Given the description of an element on the screen output the (x, y) to click on. 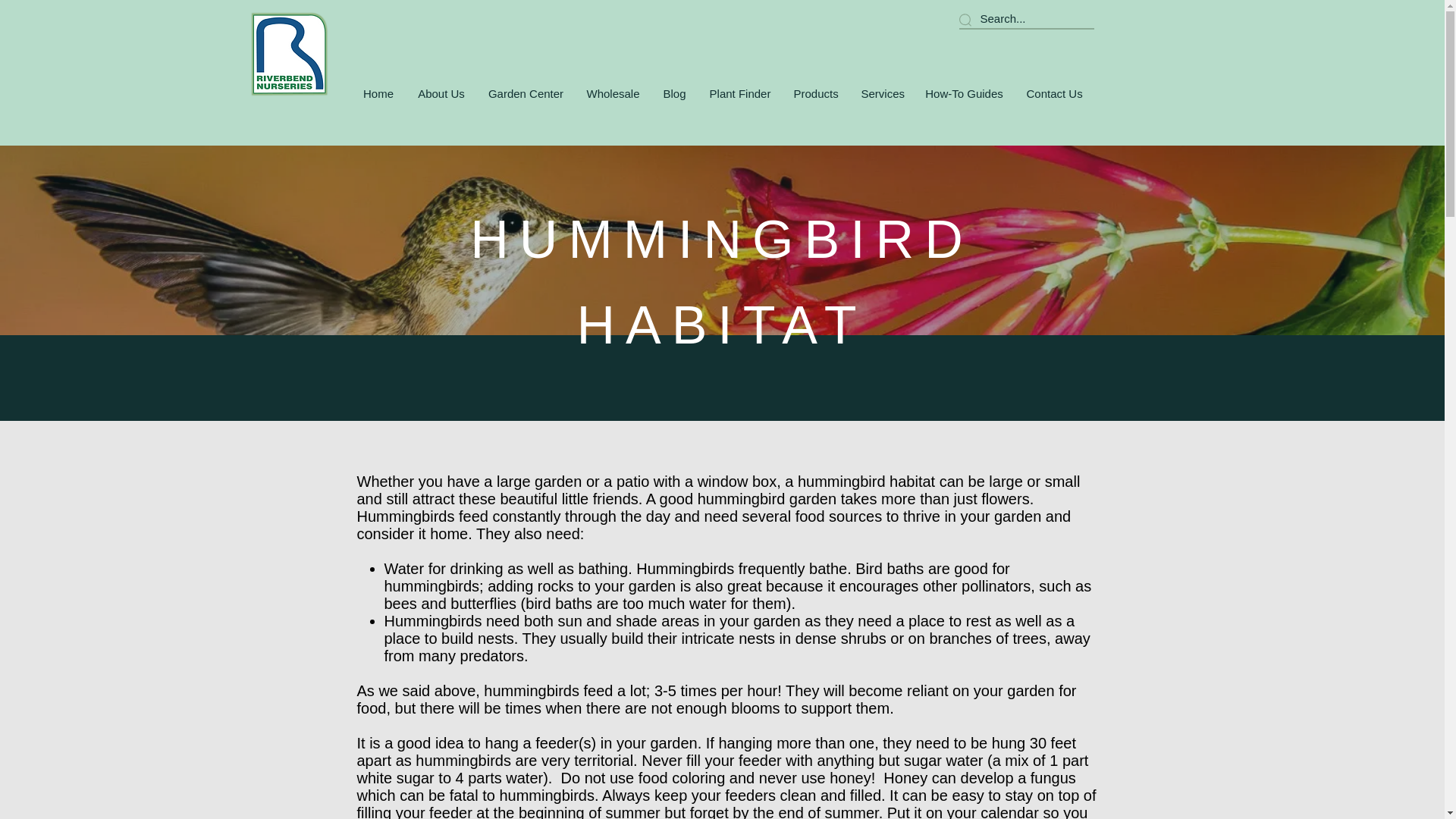
Home (378, 94)
Contact Us (1053, 94)
Blog (673, 94)
Products (816, 94)
Riverbend Nurseries (288, 54)
Wholesale (612, 94)
How-To Guides (963, 94)
Services (880, 94)
Search... (1002, 18)
Garden Center (525, 94)
Plant Finder (739, 94)
About Us (441, 94)
